Given the description of an element on the screen output the (x, y) to click on. 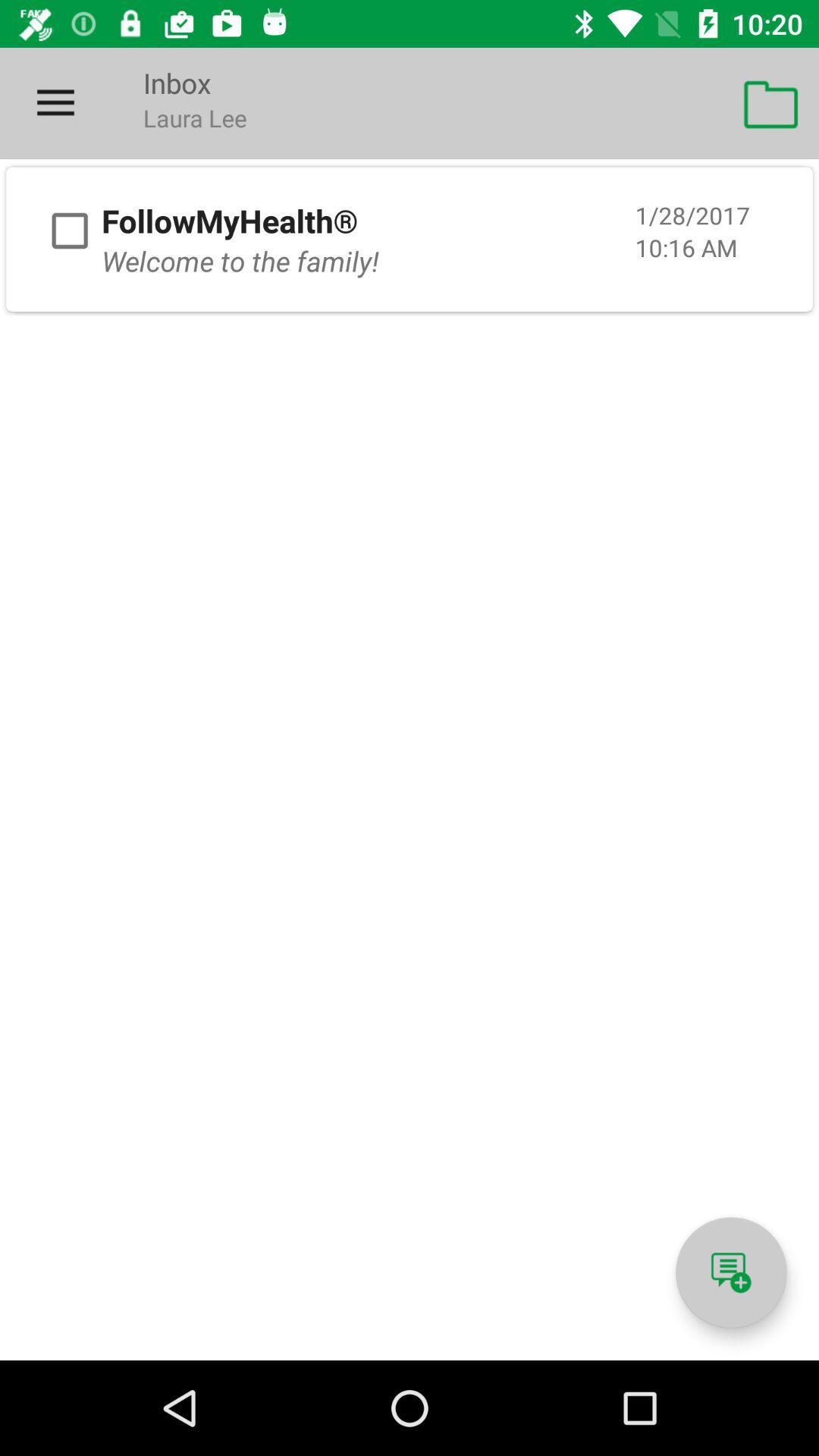
launch the item next to the laura lee (771, 103)
